Given the description of an element on the screen output the (x, y) to click on. 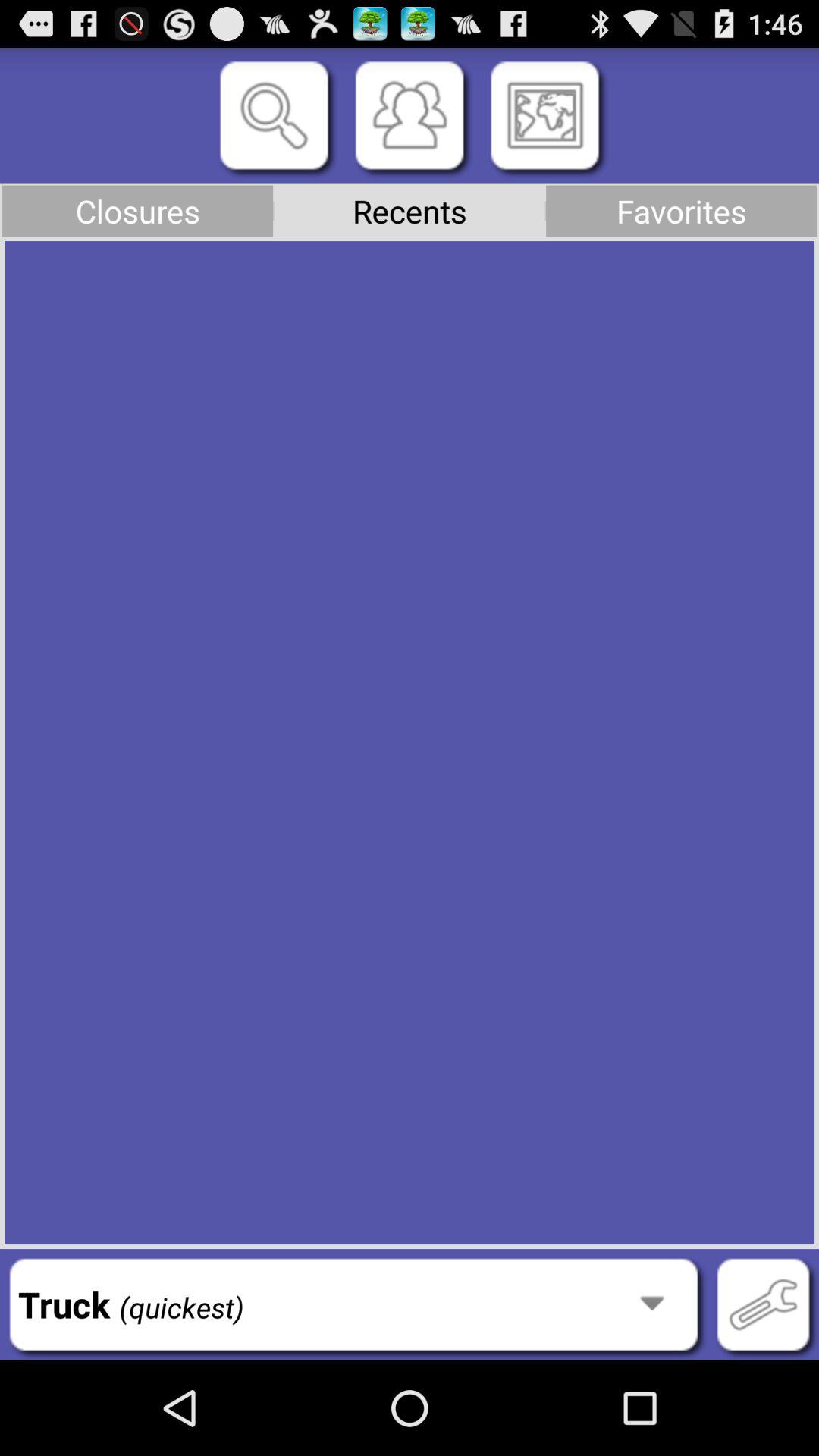
launch button at the bottom (353, 1304)
